Given the description of an element on the screen output the (x, y) to click on. 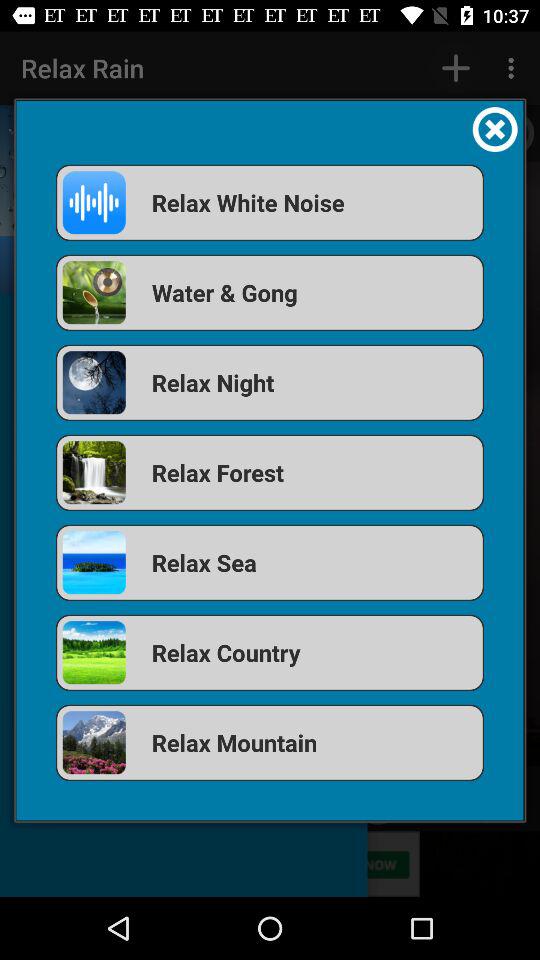
open app above water & gong app (269, 202)
